Given the description of an element on the screen output the (x, y) to click on. 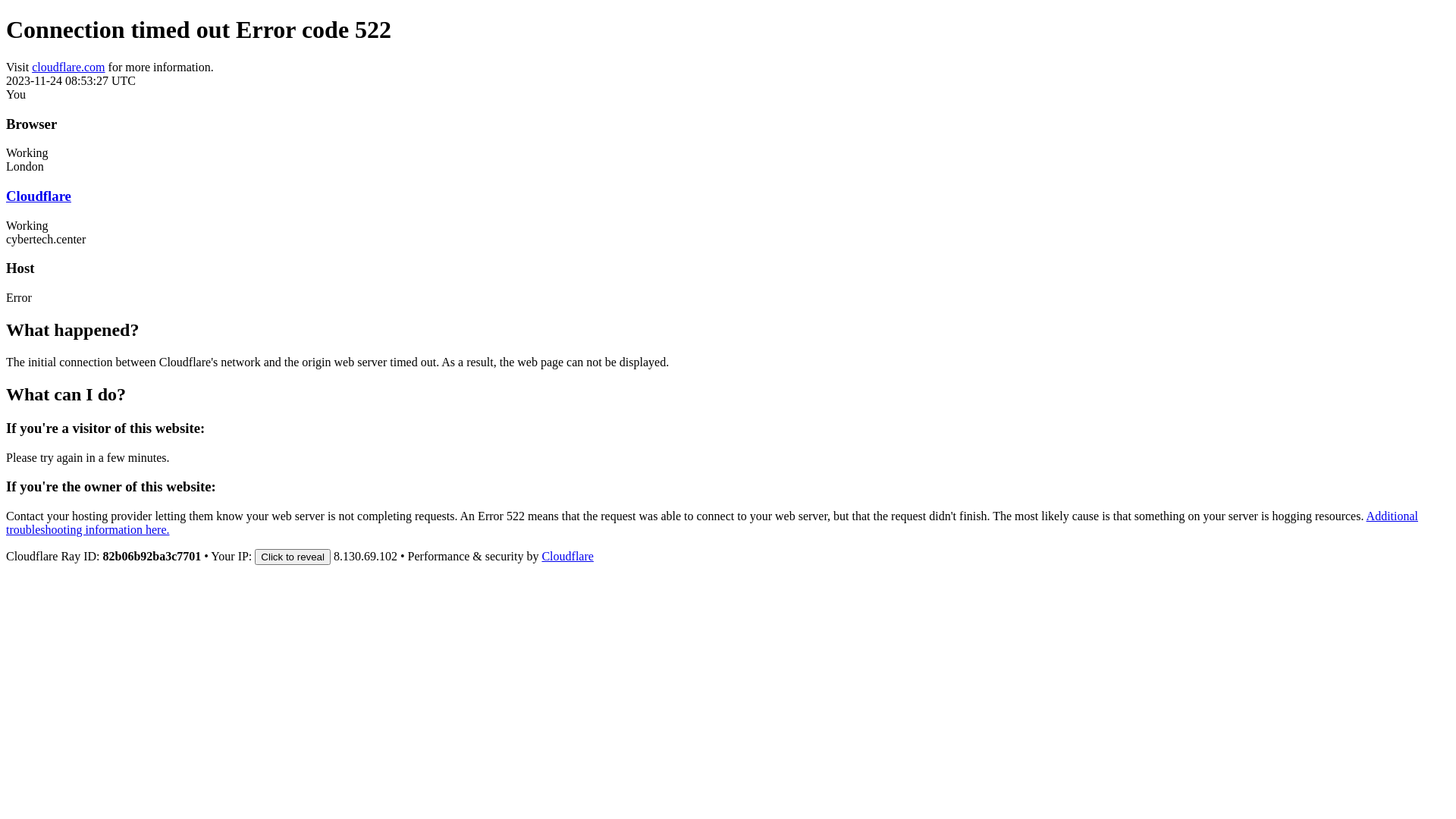
Click to reveal Element type: text (292, 556)
cloudflare.com Element type: text (67, 66)
Additional troubleshooting information here. Element type: text (712, 522)
Cloudflare Element type: text (567, 555)
Cloudflare Element type: text (38, 195)
